Given the description of an element on the screen output the (x, y) to click on. 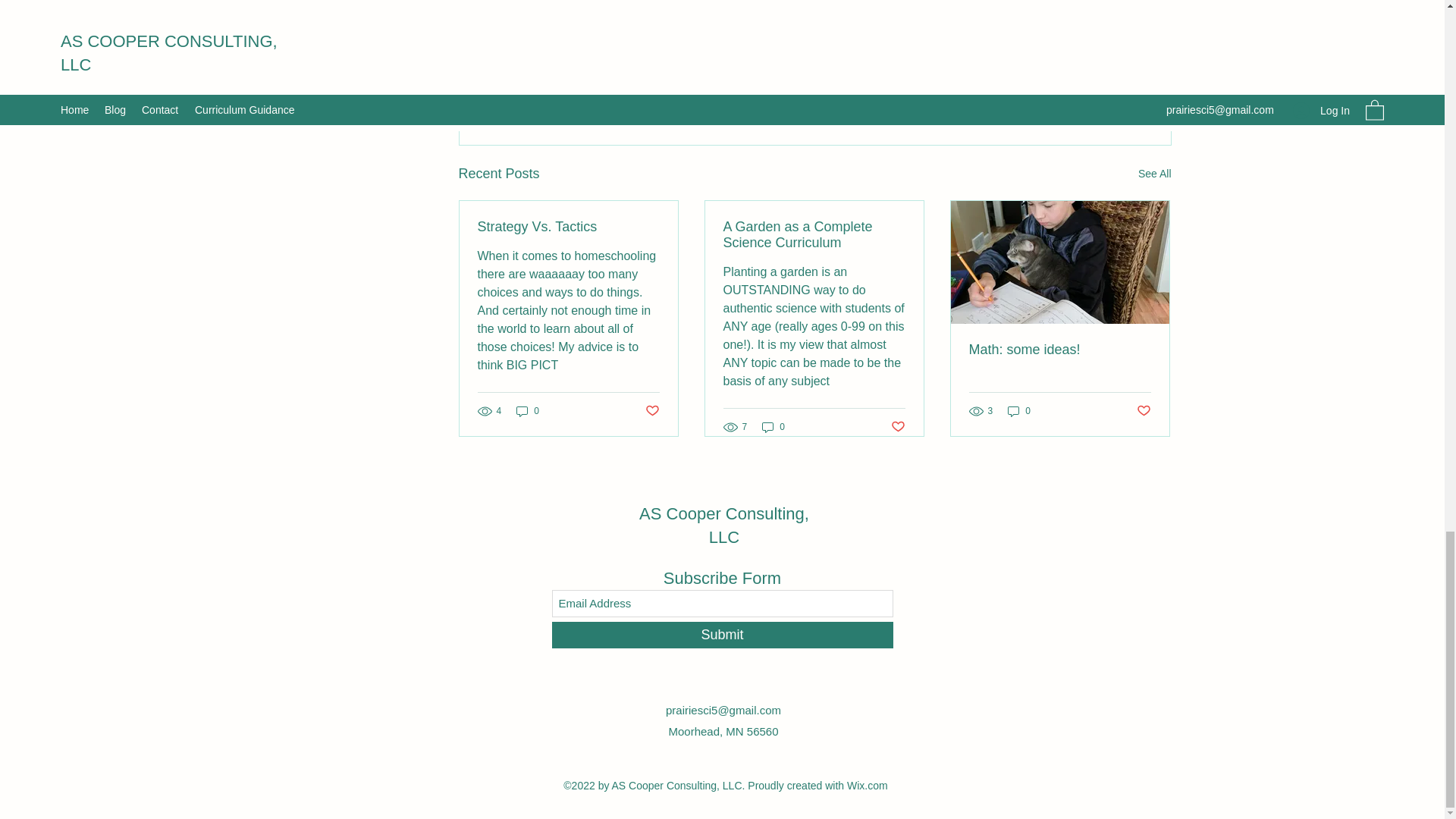
0 (527, 411)
A Garden as a Complete Science Curriculum (814, 234)
Post not marked as liked (896, 426)
0 (1019, 411)
Post not marked as liked (1142, 411)
Submit (1083, 91)
AS Cooper Consulting, LLC (722, 634)
Math: some ideas! (724, 525)
See All (1060, 349)
